Given the description of an element on the screen output the (x, y) to click on. 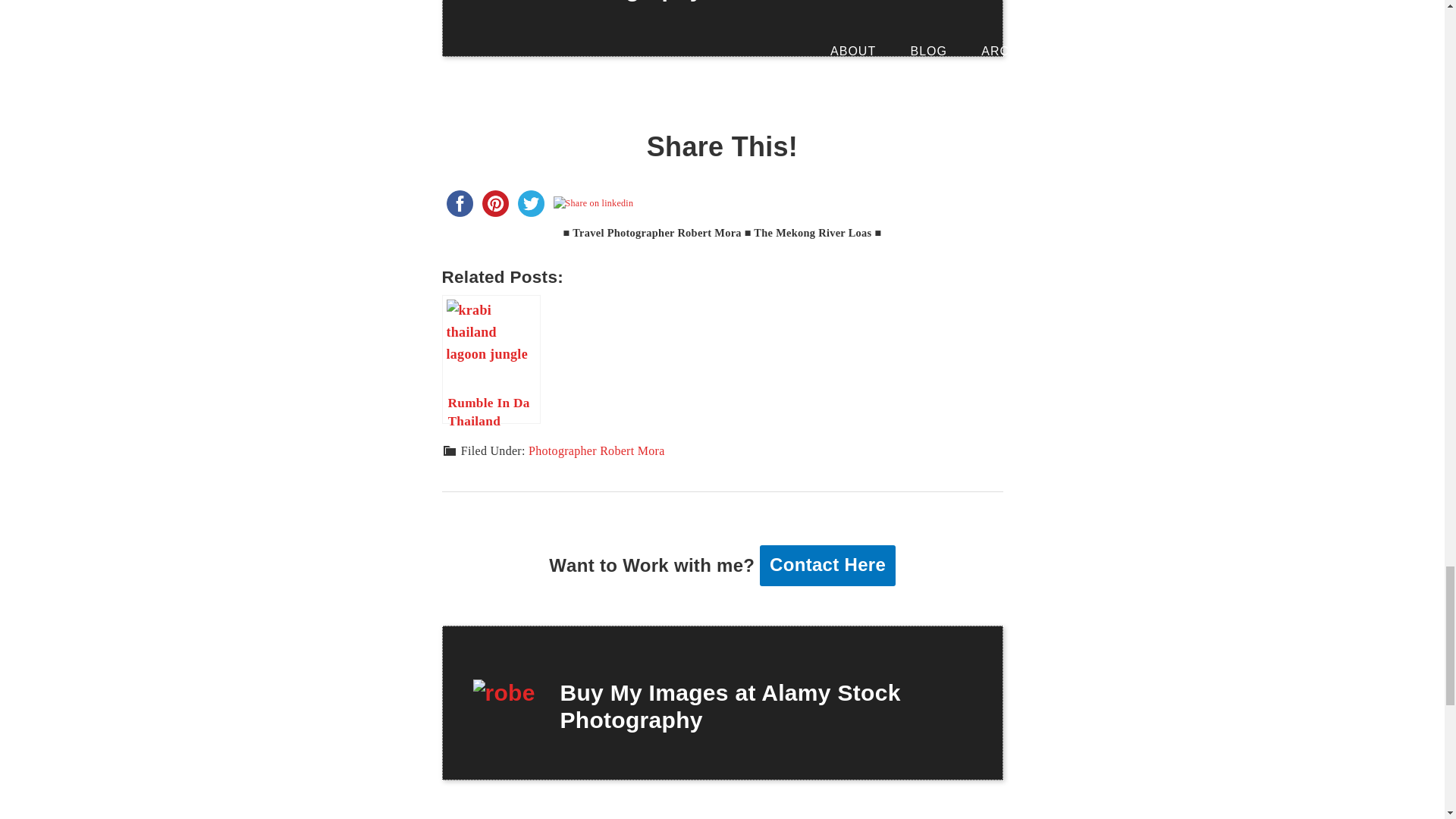
twitter (530, 203)
facebook (459, 203)
pinterest (495, 203)
Photographer Robert Mora (596, 450)
Contact Here (827, 565)
Buy My Images at Alamy Stock Photography (729, 706)
